Given the description of an element on the screen output the (x, y) to click on. 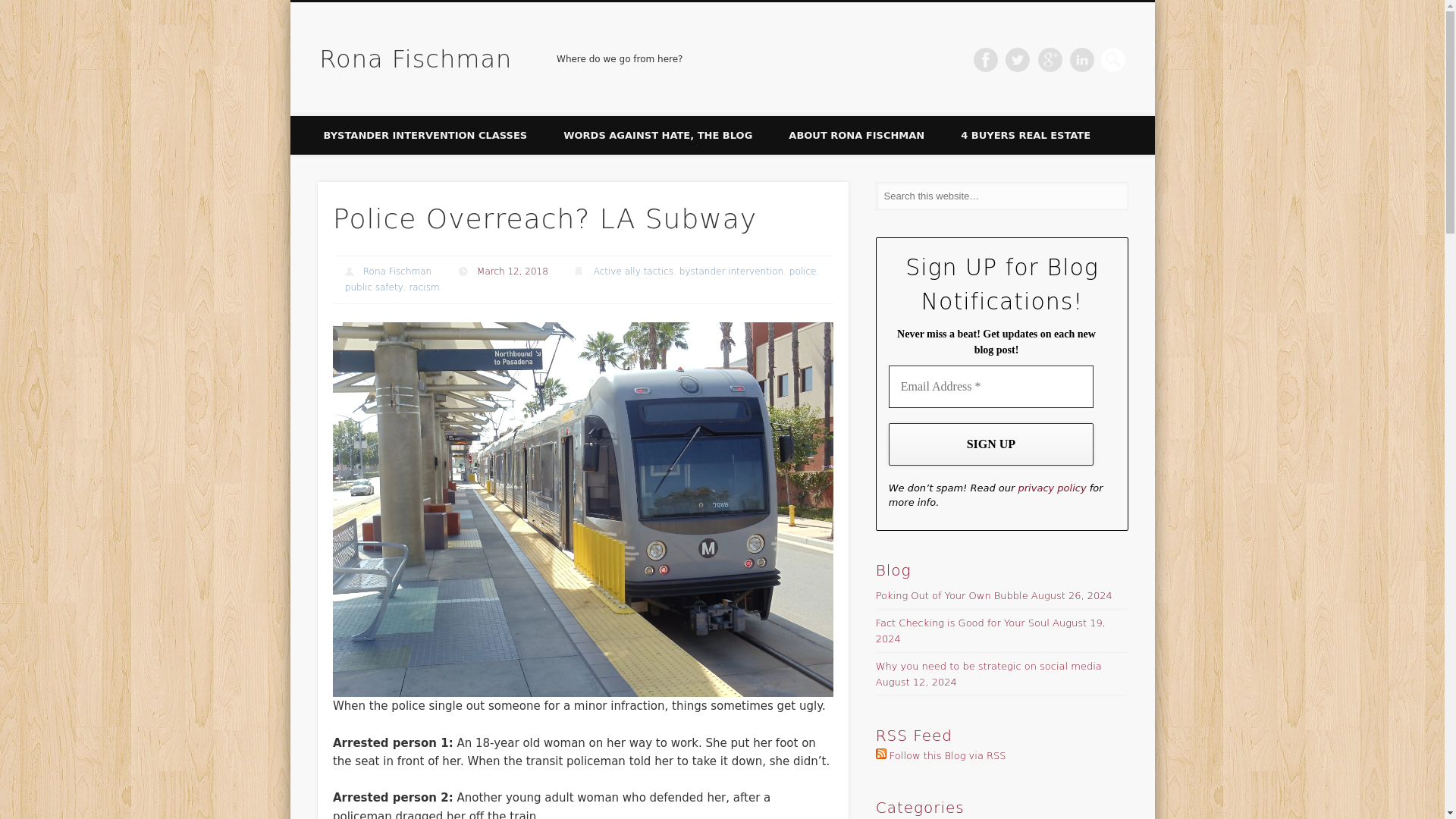
police (802, 271)
Search (11, 7)
Rona Fischman (415, 59)
Posts by Rona Fischman (396, 271)
racism (424, 286)
Facebook (985, 59)
ABOUT RONA FISCHMAN (856, 135)
bystander intervention (731, 271)
Rona Fischman (396, 271)
BYSTANDER INTERVENTION CLASSES (424, 135)
